Given the description of an element on the screen output the (x, y) to click on. 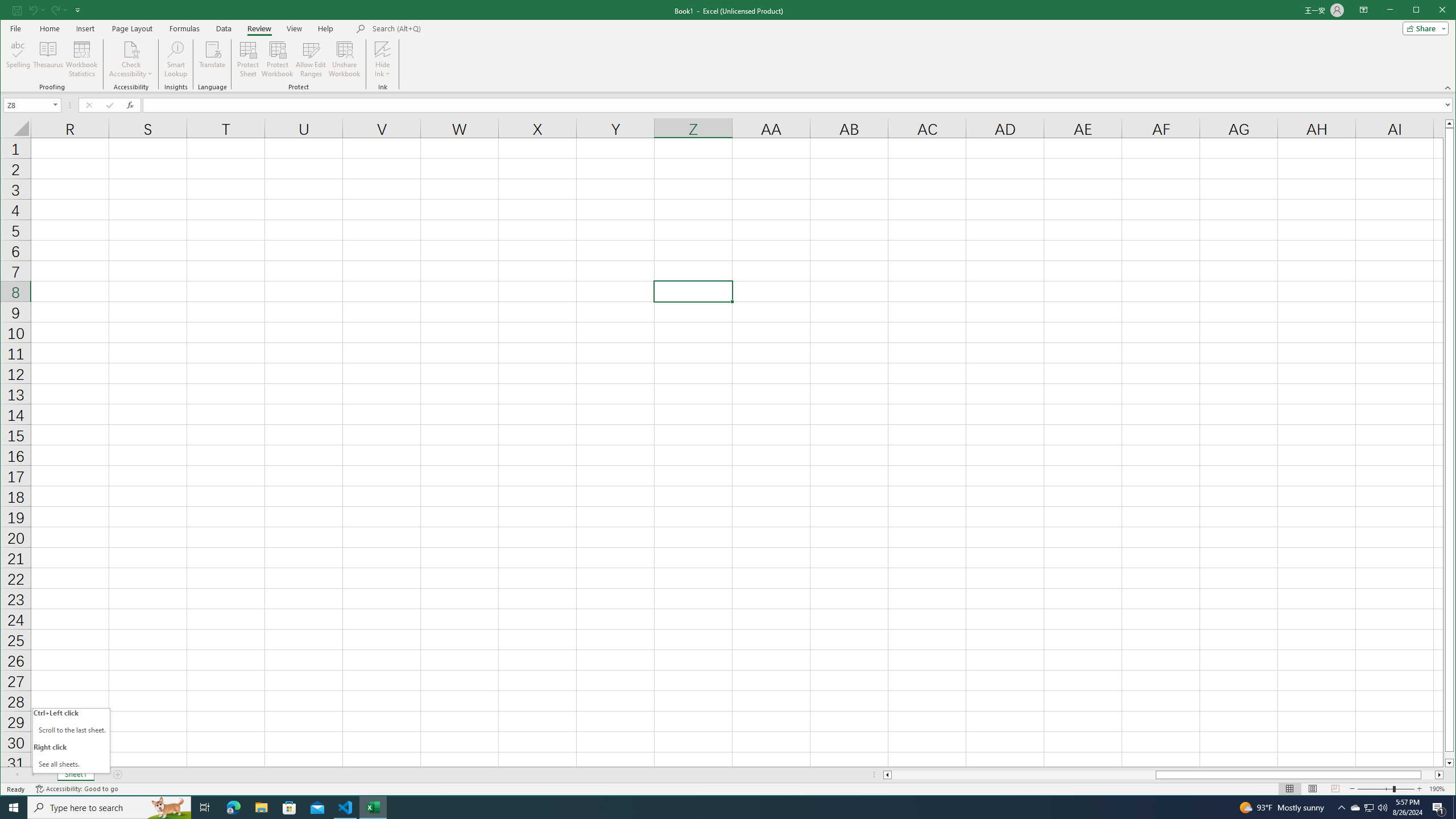
Task View (204, 807)
Hide Ink (382, 48)
Check Accessibility (130, 59)
Microsoft Store (289, 807)
Running applications (717, 807)
